Given the description of an element on the screen output the (x, y) to click on. 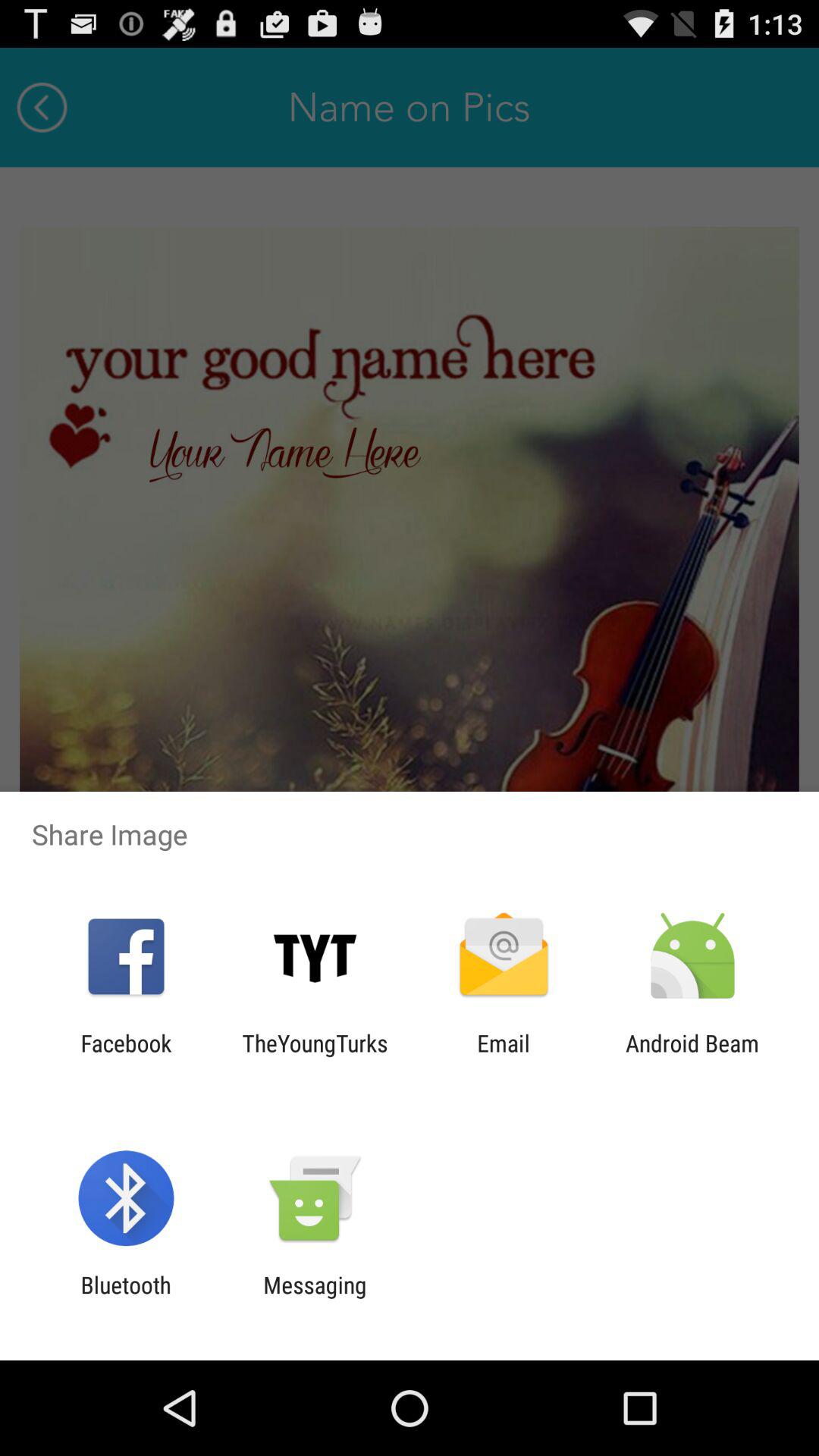
launch app next to the bluetooth item (314, 1298)
